Given the description of an element on the screen output the (x, y) to click on. 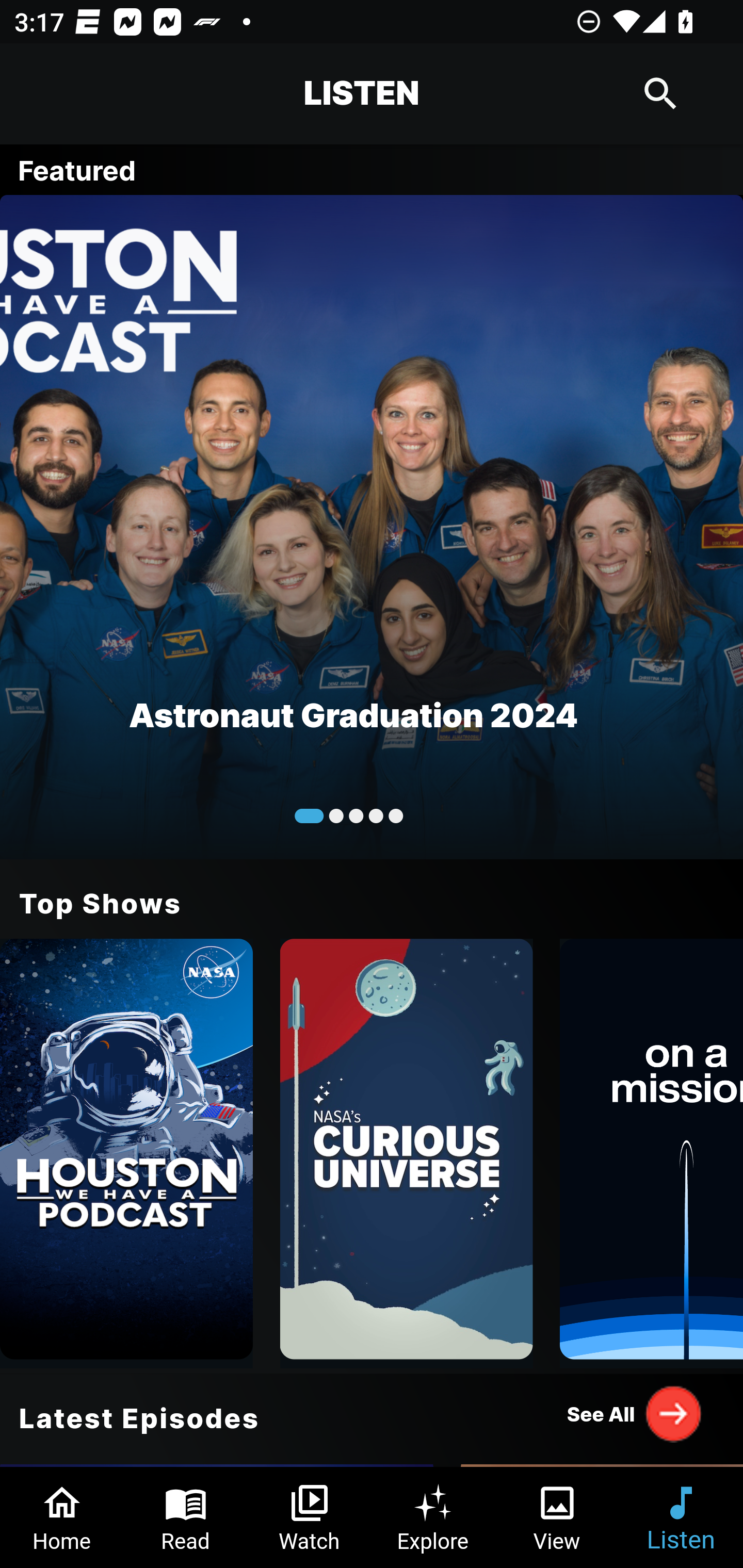
Astronaut Graduation 2024 (371, 526)
See All (634, 1413)
Home
Tab 1 of 6 (62, 1517)
Read
Tab 2 of 6 (185, 1517)
Watch
Tab 3 of 6 (309, 1517)
Explore
Tab 4 of 6 (433, 1517)
View
Tab 5 of 6 (556, 1517)
Listen
Tab 6 of 6 (680, 1517)
